Given the description of an element on the screen output the (x, y) to click on. 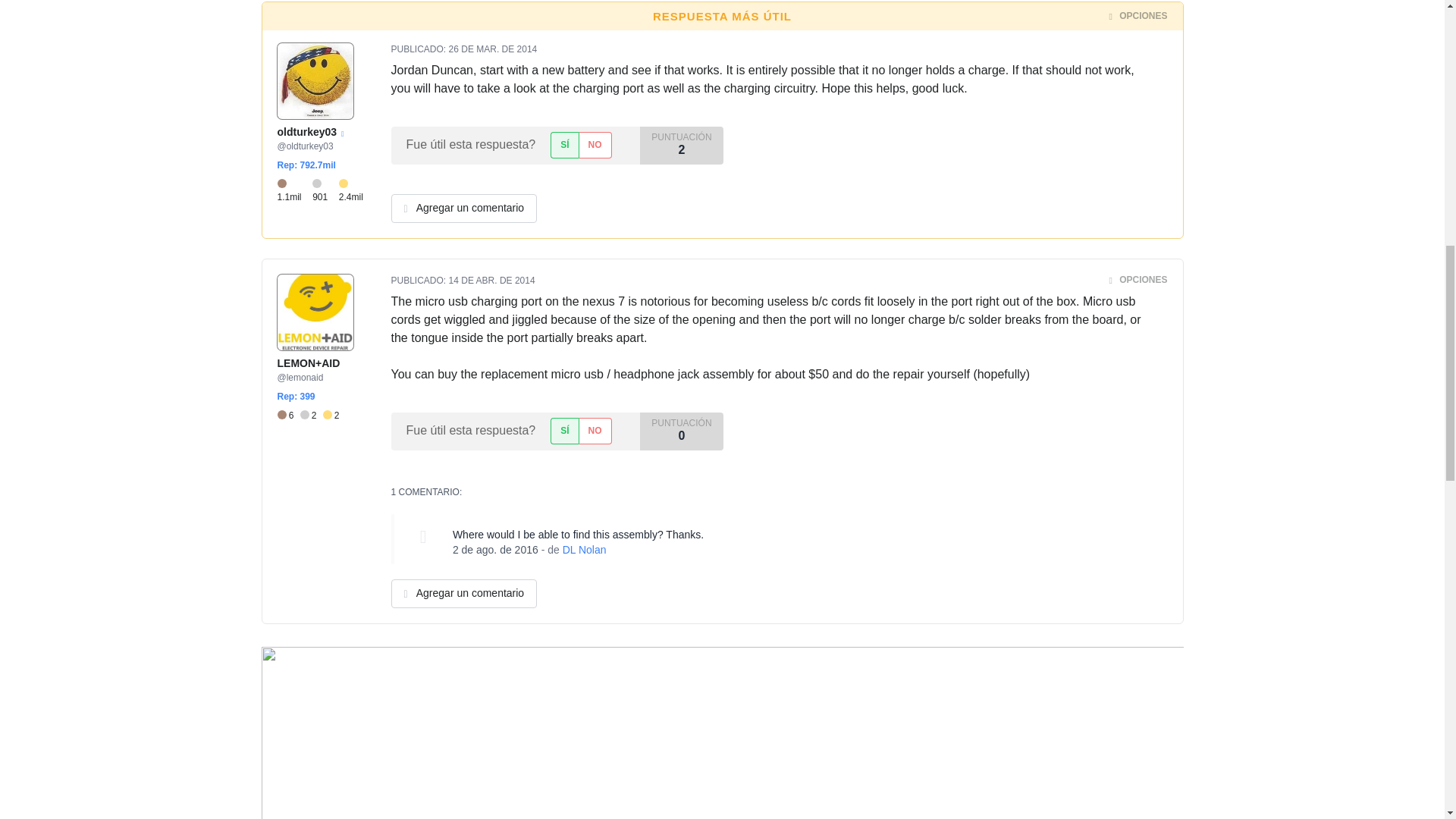
Tue, 02 Aug 2016 08:47:12 -0700 (495, 549)
Wed, 26 Mar 2014 15:28:55 -0700 (492, 49)
901 insignias de Plata (326, 190)
1162 insignias de Bronce (295, 190)
2406 insignias de Oro (353, 190)
Mon, 14 Apr 2014 22:12:43 -0700 (491, 280)
2 insignias de Oro (331, 415)
2 insignias de Plata (311, 415)
6 insignias de Bronce (288, 415)
